Given the description of an element on the screen output the (x, y) to click on. 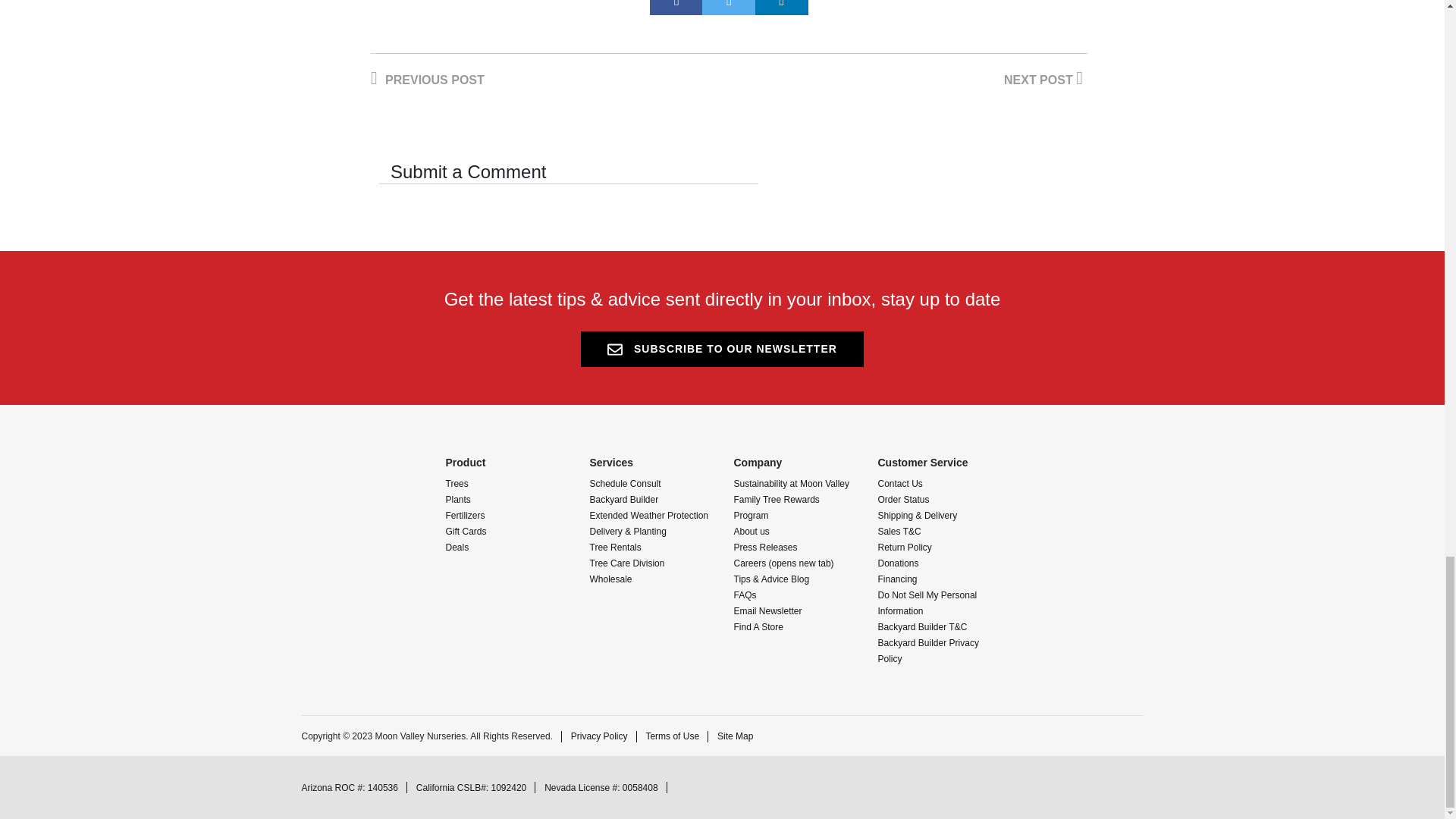
facebook (676, 7)
linkedin (781, 7)
twitter (728, 7)
